Given the description of an element on the screen output the (x, y) to click on. 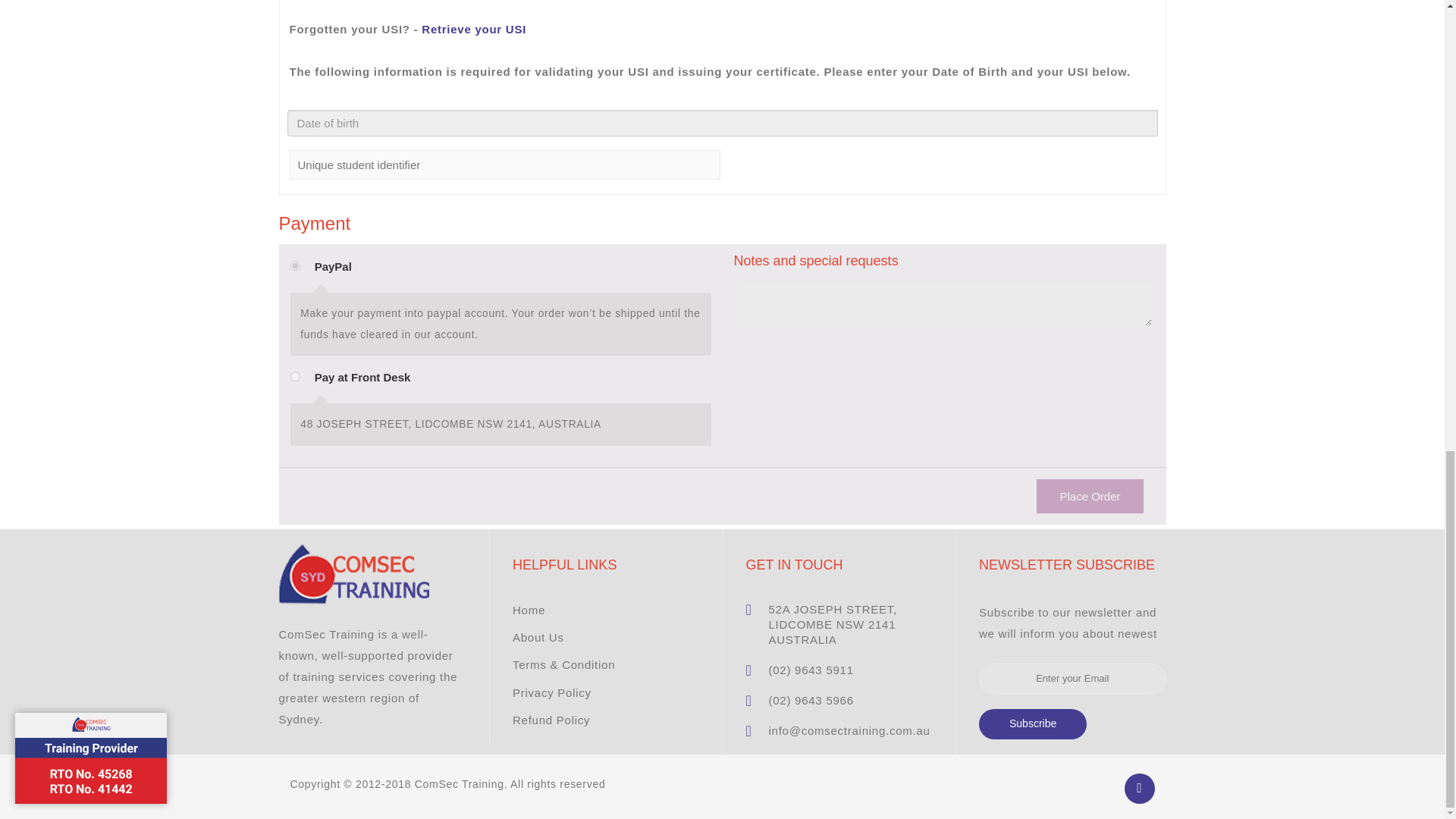
Place Order (1089, 496)
PF (294, 376)
PP (294, 266)
Subscribe (1032, 724)
